Given the description of an element on the screen output the (x, y) to click on. 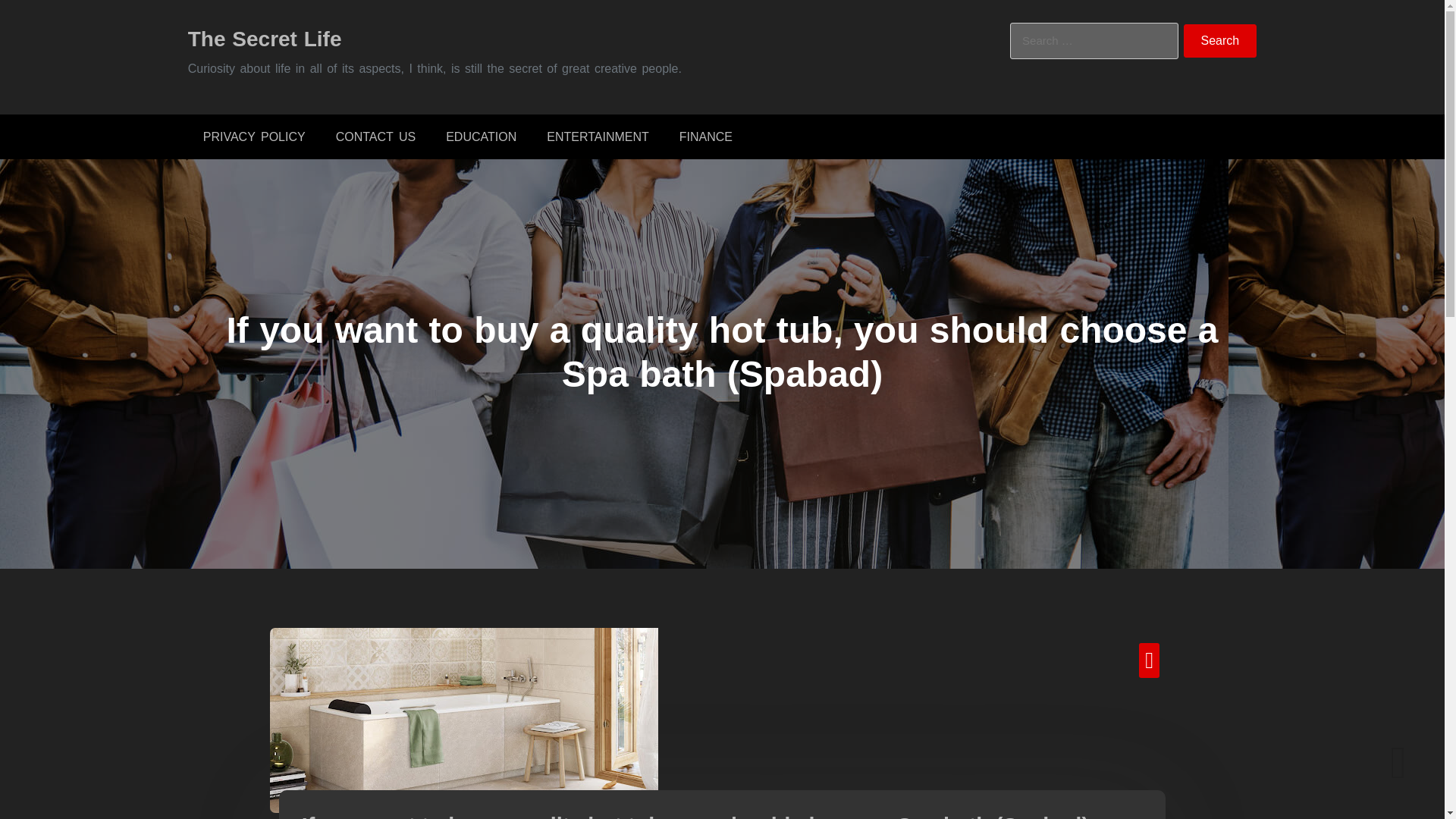
ENTERTAINMENT (597, 136)
Search (1220, 40)
PRIVACY POLICY (253, 136)
CONTACT US (375, 136)
FINANCE (705, 136)
Search (1220, 40)
Search (1220, 40)
EDUCATION (480, 136)
The Secret Life (264, 38)
